Given the description of an element on the screen output the (x, y) to click on. 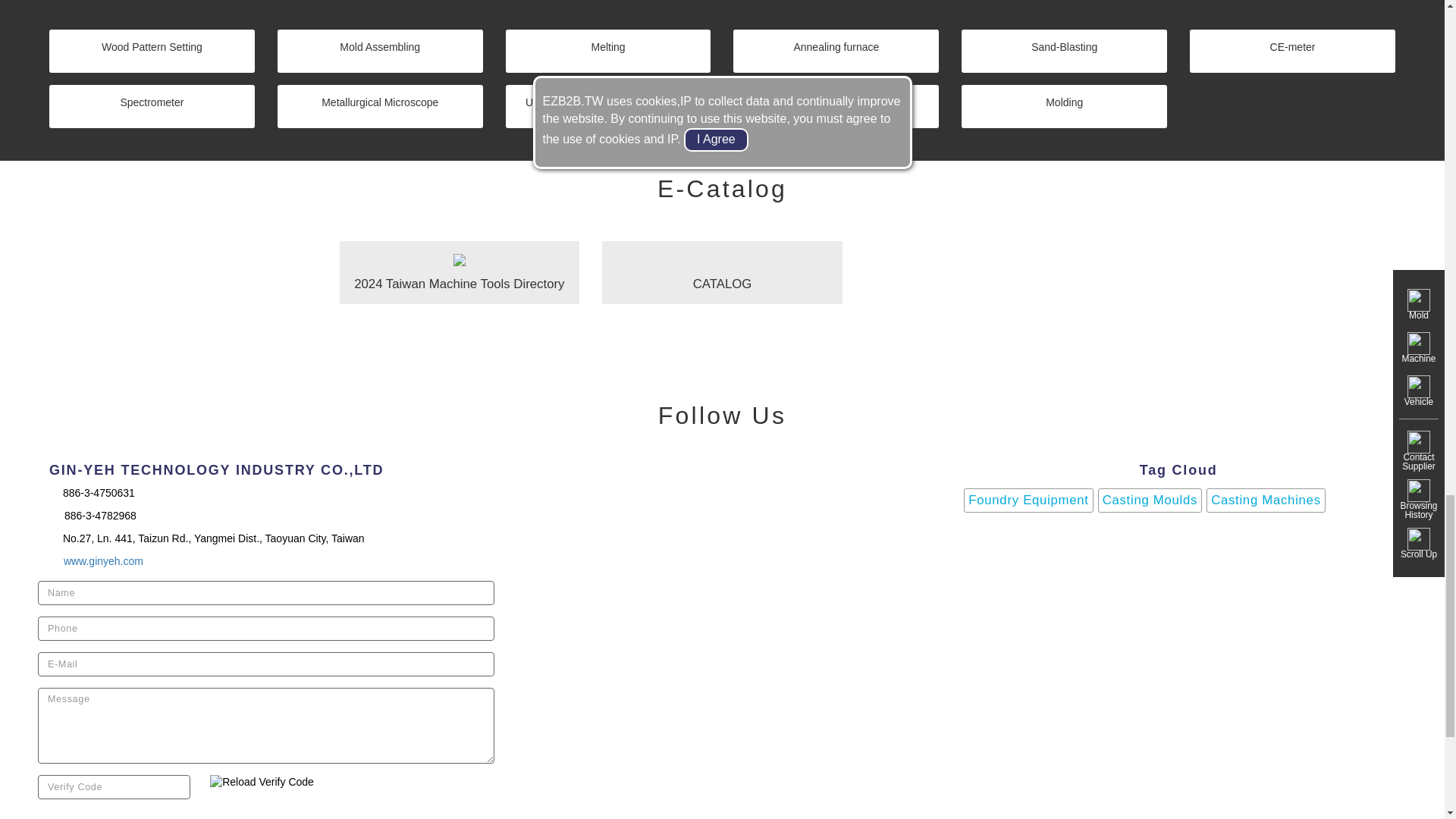
Annealing furnace (836, 50)
Melting (608, 50)
Spectrometer (151, 106)
Sand-Blasting (1063, 50)
Mold Assembling (380, 50)
Wood Pattern Setting (151, 50)
CE-meter (1291, 50)
Reload Verify Code (261, 782)
